Given the description of an element on the screen output the (x, y) to click on. 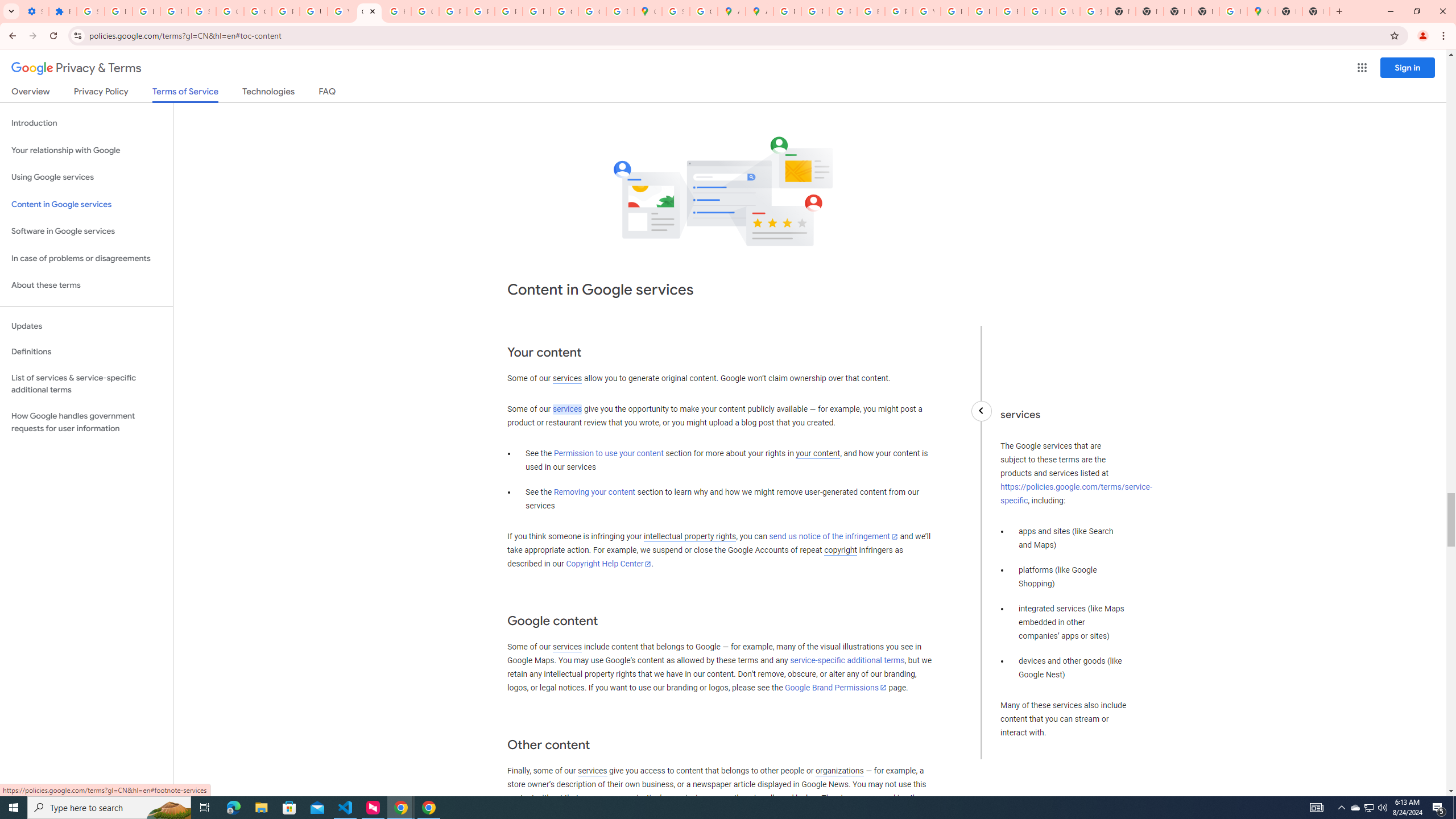
In case of problems or disagreements (86, 258)
Technologies (268, 93)
Introduction (86, 122)
Policy Accountability and Transparency - Transparency Center (787, 11)
copyright (840, 550)
Google Maps (1260, 11)
Privacy Help Center - Policies Help (452, 11)
